Given the description of an element on the screen output the (x, y) to click on. 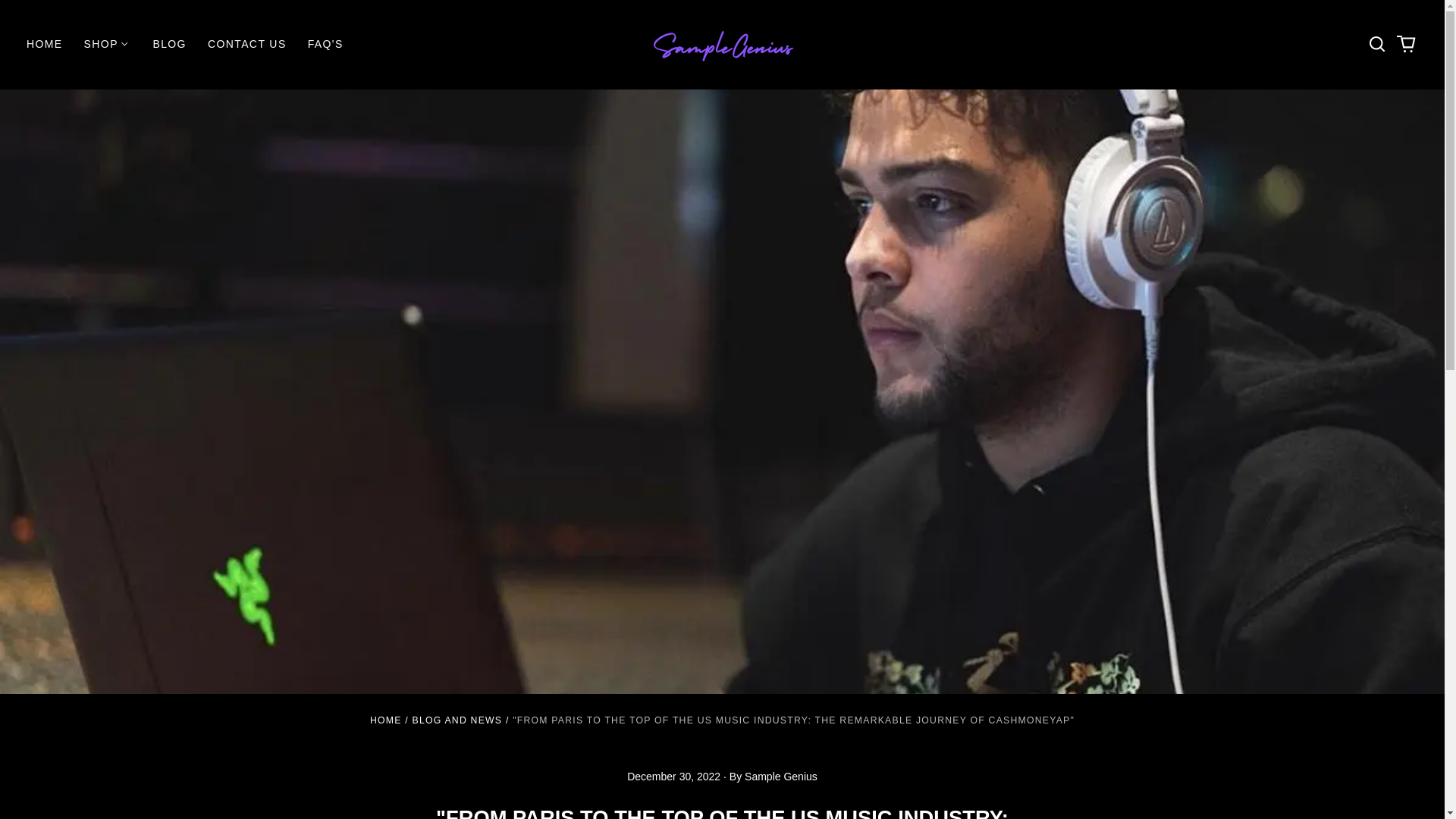
Home (385, 719)
BLOG AND NEWS (457, 719)
CONTACT US (246, 43)
BLOG (168, 43)
Search our site (1377, 43)
FAQ'S (325, 43)
HOME (45, 43)
HOME (385, 719)
0 items (1405, 43)
SHOP (108, 43)
